Given the description of an element on the screen output the (x, y) to click on. 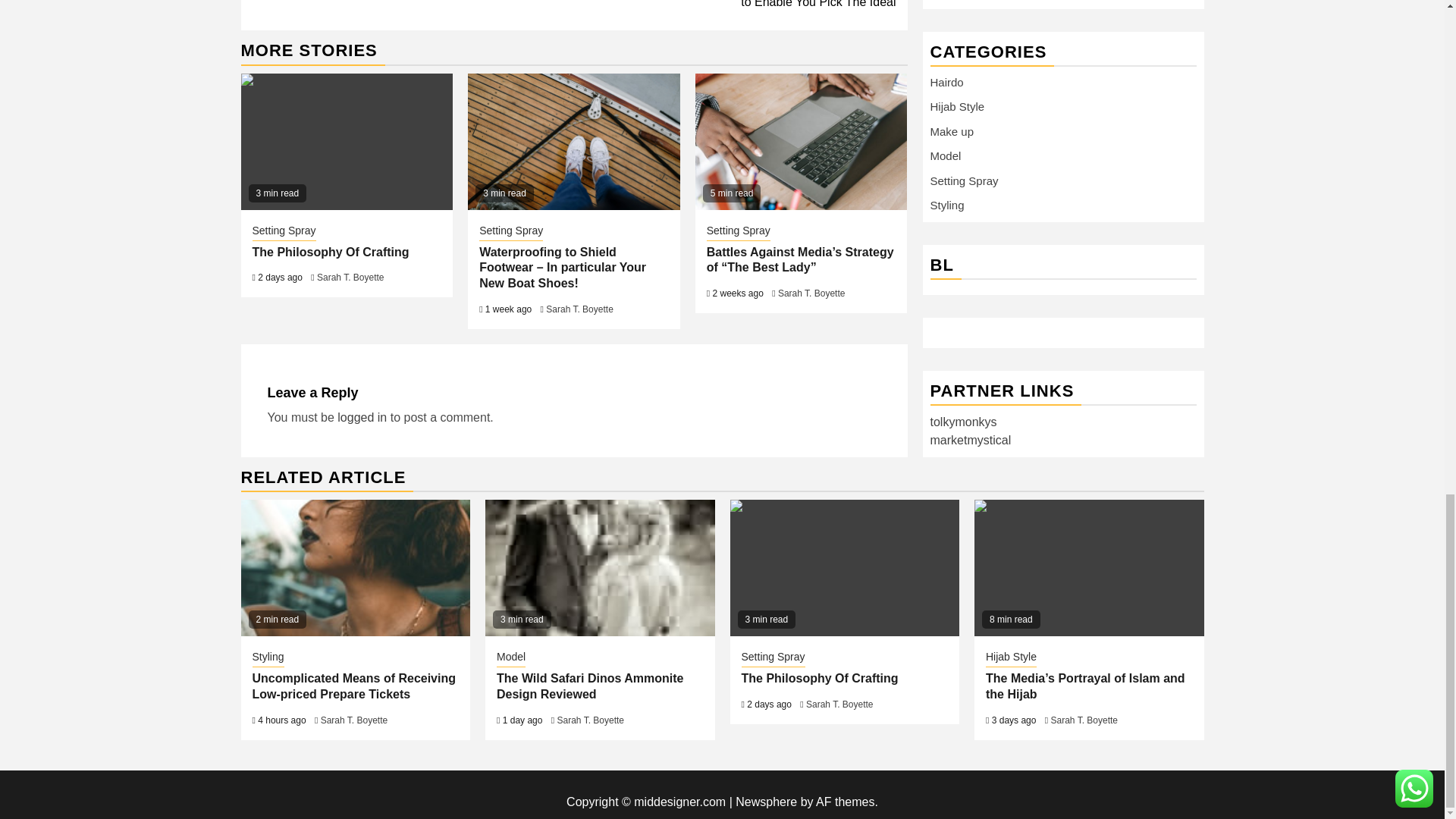
The Philosophy Of Crafting (844, 567)
The Philosophy Of Crafting (346, 141)
Sarah T. Boyette (811, 293)
Setting Spray (283, 231)
Sarah T. Boyette (579, 308)
Uncomplicated Means of Receiving Low-priced Prepare Tickets (355, 567)
Setting Spray (738, 231)
Setting Spray (511, 231)
logged in (362, 417)
Sarah T. Boyette (350, 276)
The Wild Safari Dinos Ammonite Design Reviewed (599, 567)
The Philosophy Of Crafting (330, 251)
